Given the description of an element on the screen output the (x, y) to click on. 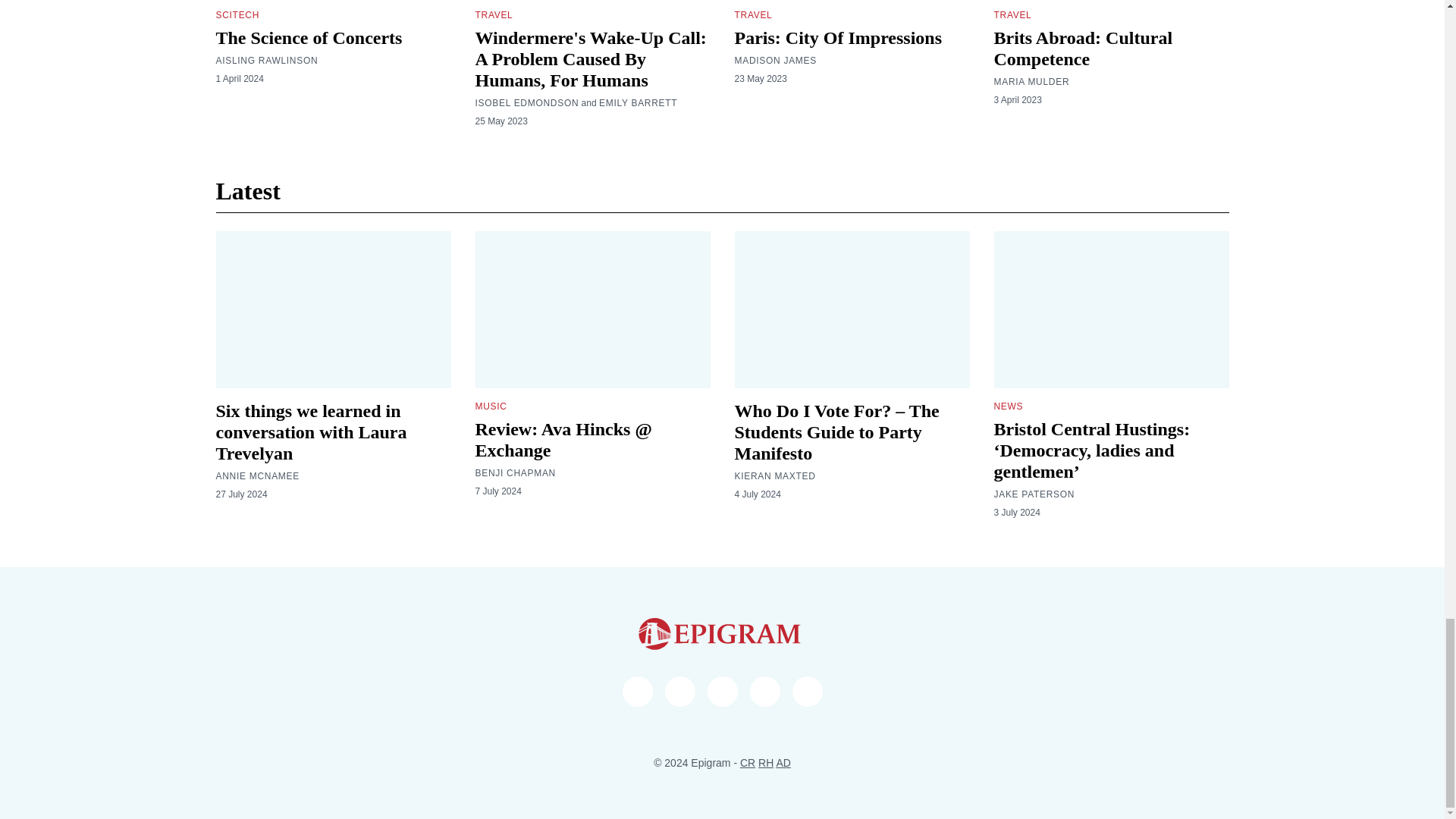
SCITECH (237, 14)
EMILY BARRETT (637, 102)
AISLING RAWLINSON (266, 60)
The Science of Concerts (308, 37)
TRAVEL (493, 14)
ISOBEL EDMONDSON (526, 102)
